Given the description of an element on the screen output the (x, y) to click on. 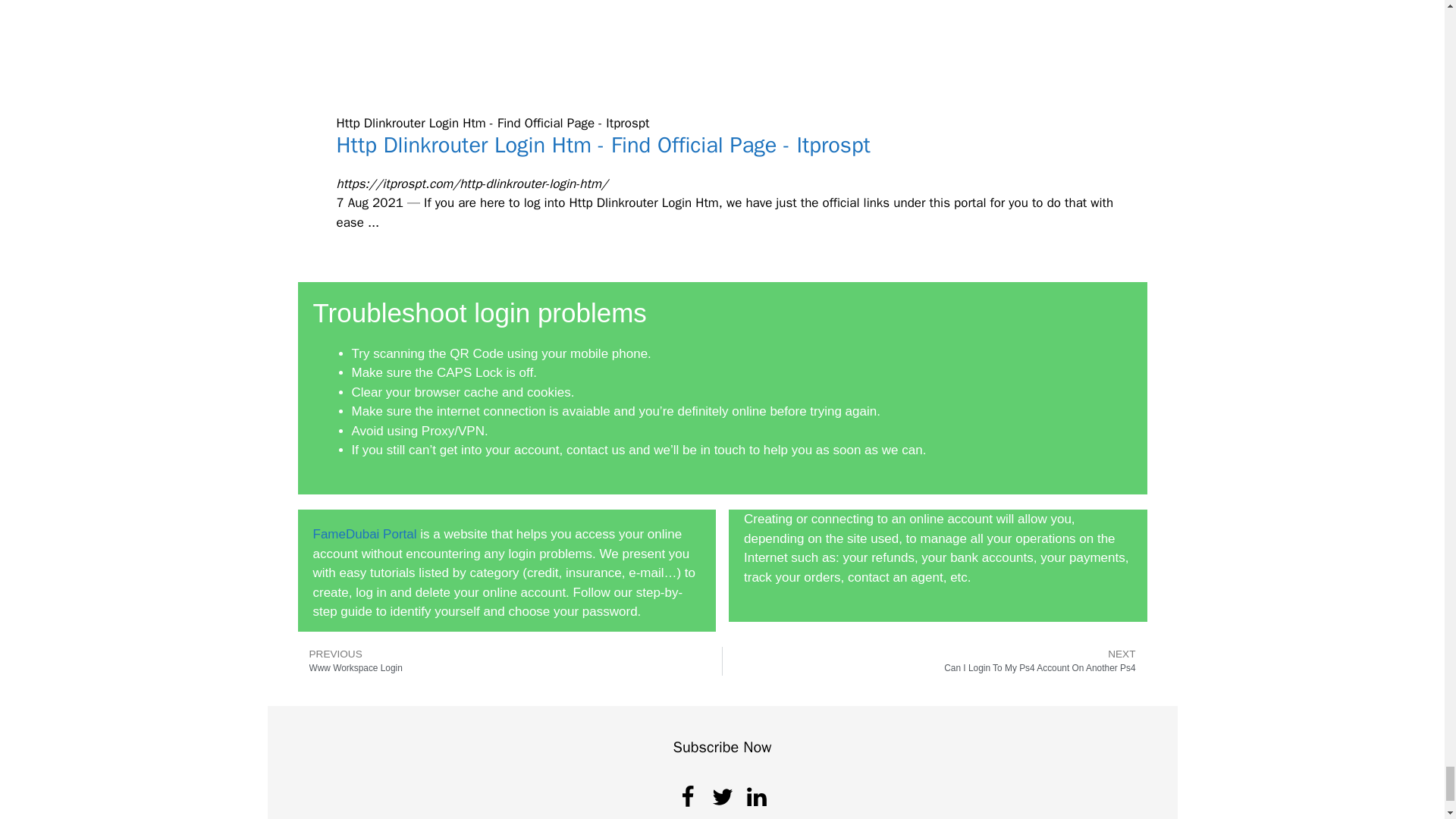
Http Dlinkrouter Login Htm - Find Official Page - Itprospt (603, 144)
FameDubai Portal (509, 661)
